Given the description of an element on the screen output the (x, y) to click on. 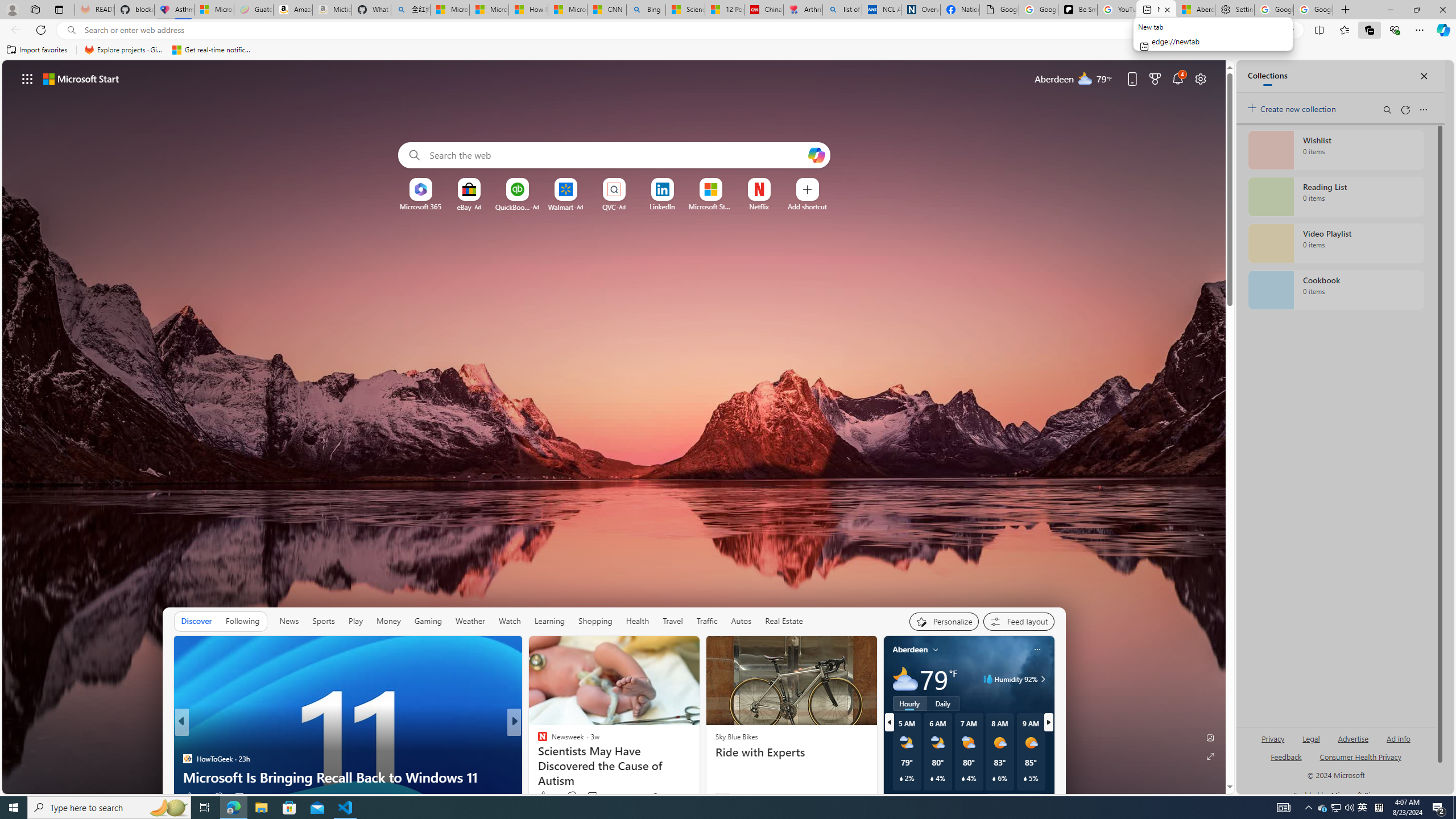
8 Subtle Traits Of People Who Have A Low IQ (697, 777)
Mostly cloudy (904, 678)
View comments 62 Comment (594, 796)
View comments 4 Comment (589, 797)
AutomationID: sb_feedback (1286, 756)
